Given the description of an element on the screen output the (x, y) to click on. 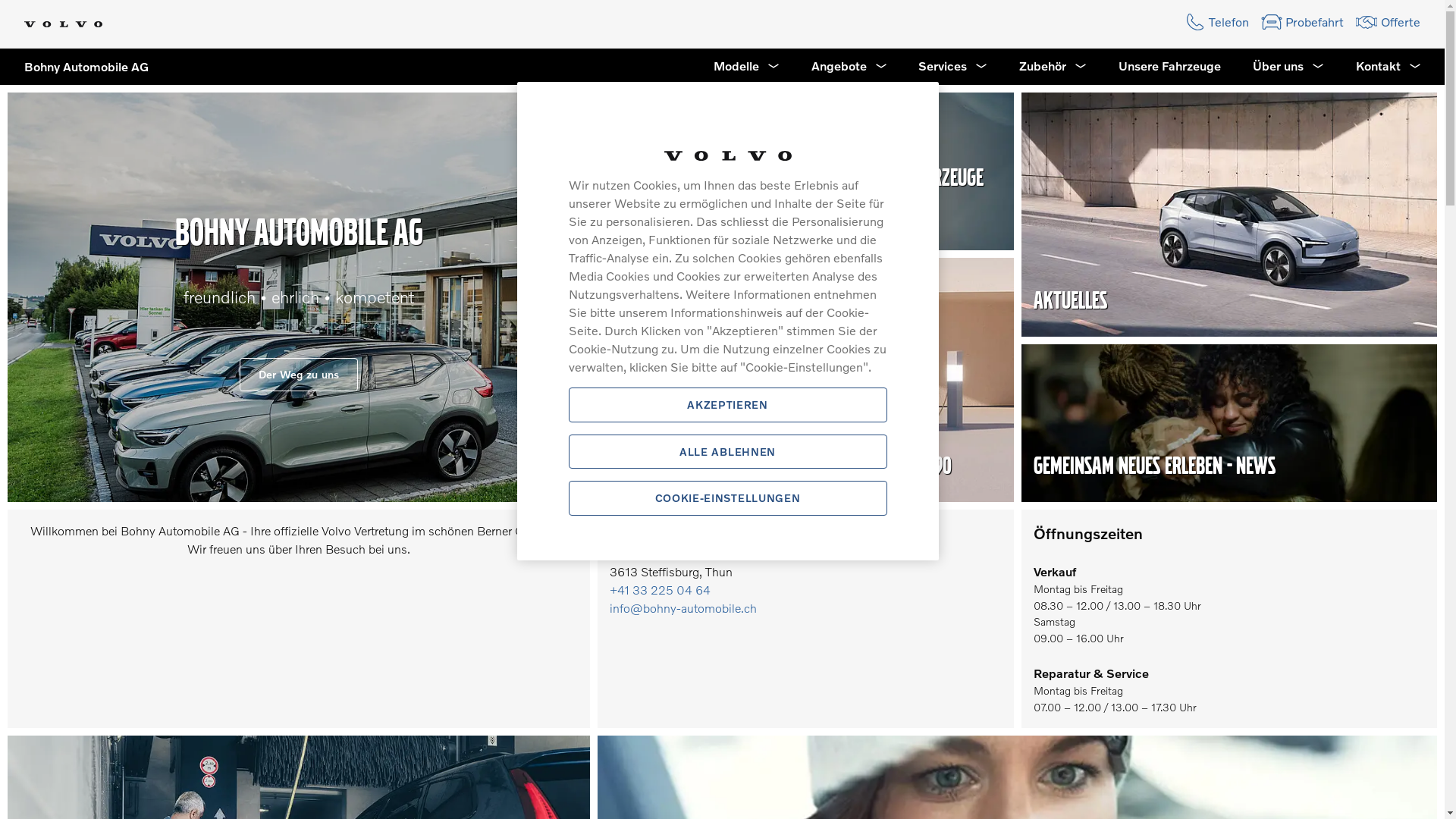
Modelle Element type: text (746, 66)
info@bohny-automobile.ch Element type: text (682, 607)
Telefon Element type: text (1216, 21)
Der Weg zu uns Element type: text (298, 374)
Volvo Logo Element type: hover (63, 24)
ALLE ABLEHNEN Element type: text (727, 451)
Angebote Element type: text (848, 66)
Bohny Automobile AG Element type: text (74, 66)
Kontakt Element type: text (1388, 66)
Probefahrt Element type: text (1302, 21)
AKTUELLES Element type: text (1069, 299)
UNSER NEUER VOLLELEKTRISCHER SUV: VOLVO EX90 Element type: text (780, 465)
Unsere Fahrzeuge Element type: text (1168, 66)
GEMEINSAM NEUES ERLEBEN - NEWS Element type: text (1153, 465)
NEUWAGEN ODER OCCASION - JETZT UNSERE FAHRZEUGE ENTDECKEN Element type: text (796, 195)
COOKIE-EINSTELLUNGEN Element type: text (727, 497)
AKZEPTIEREN Element type: text (727, 404)
Services Element type: text (952, 66)
+41 33 225 04 64 Element type: text (659, 589)
Offerte Element type: text (1387, 21)
